Given the description of an element on the screen output the (x, y) to click on. 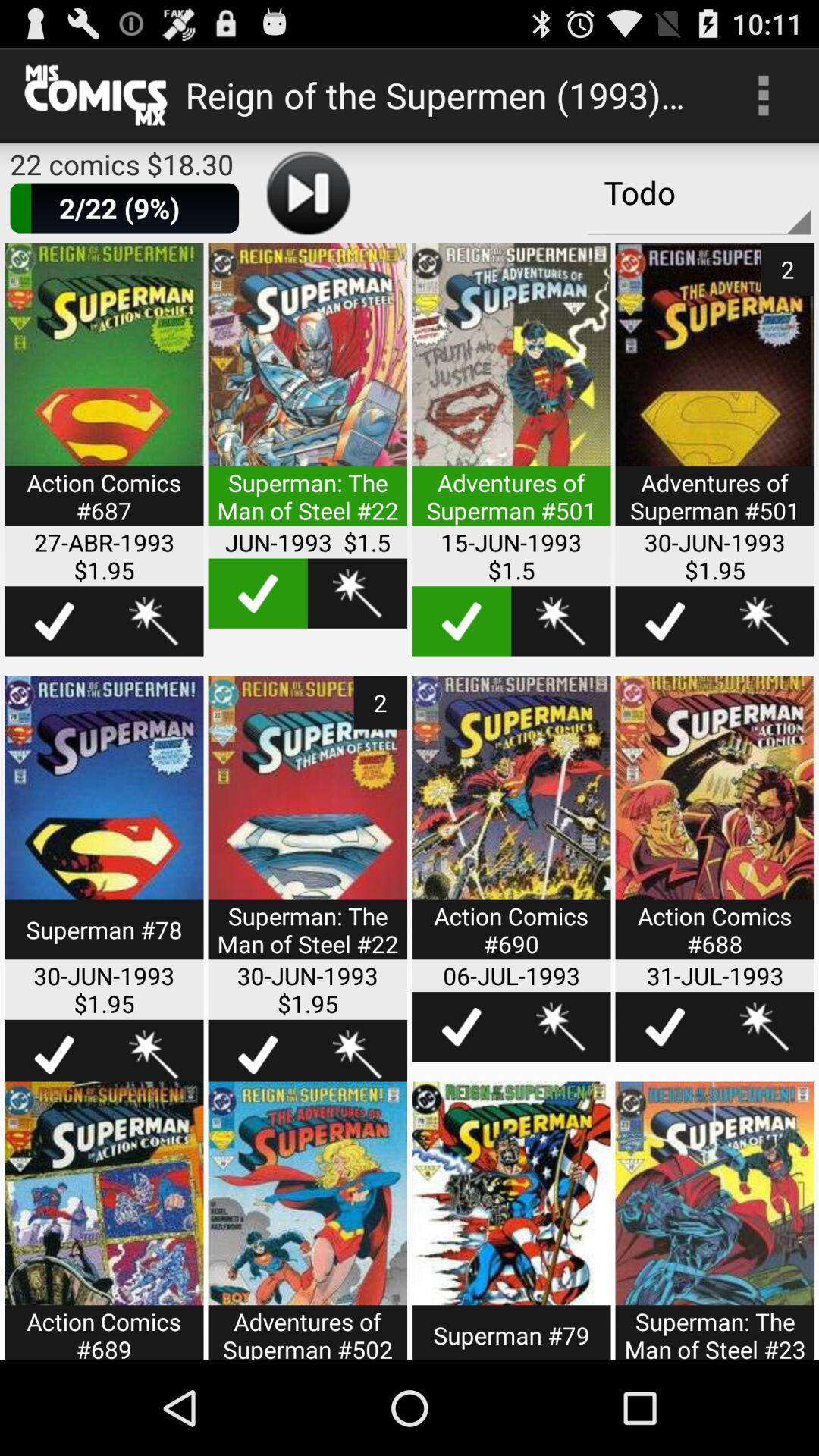
select adventures of superman 501 (510, 393)
